Given the description of an element on the screen output the (x, y) to click on. 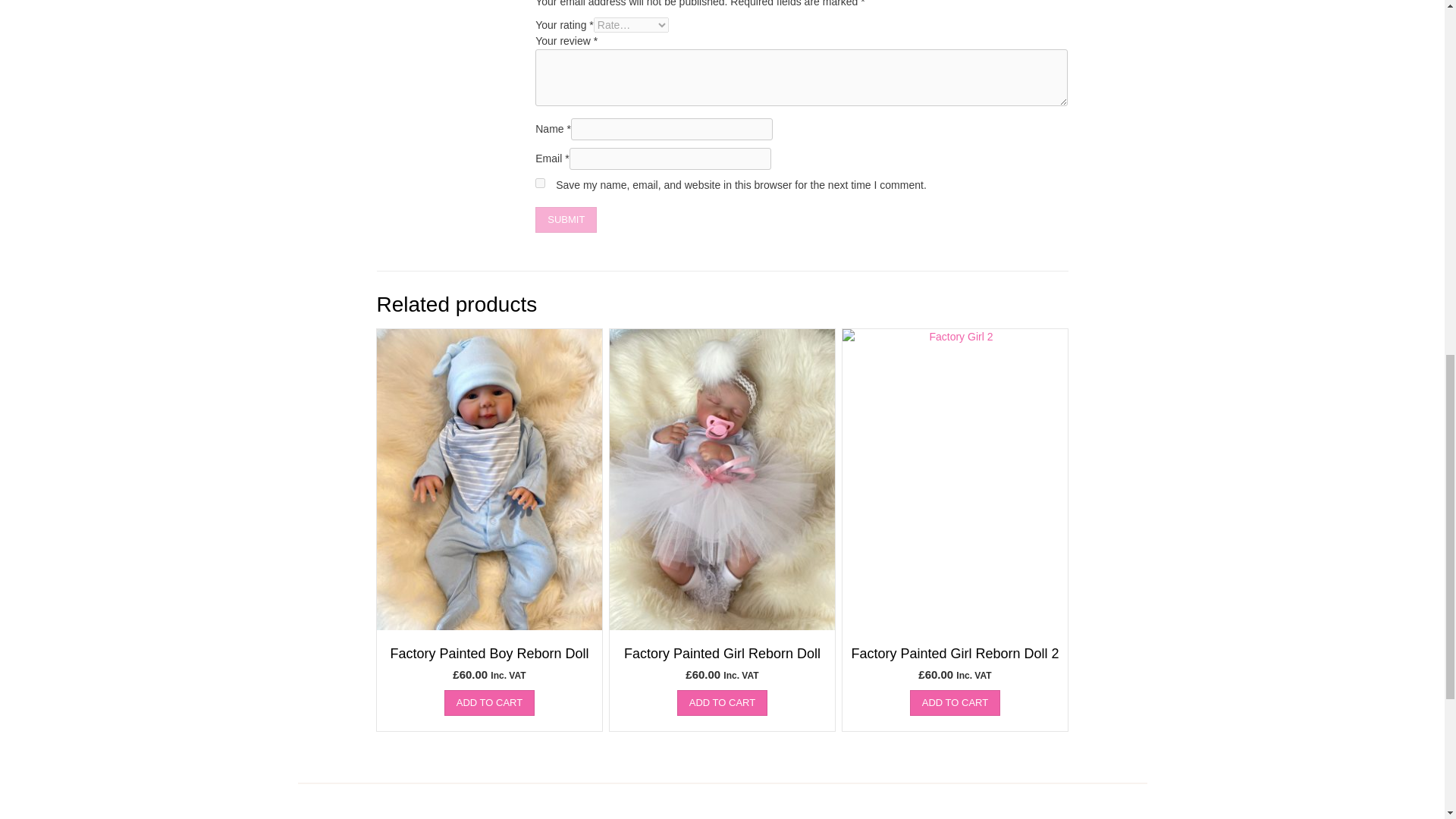
yes (539, 183)
ADD TO CART (955, 702)
ADD TO CART (722, 702)
ADD TO CART (489, 702)
Submit (565, 219)
Submit (565, 219)
